Given the description of an element on the screen output the (x, y) to click on. 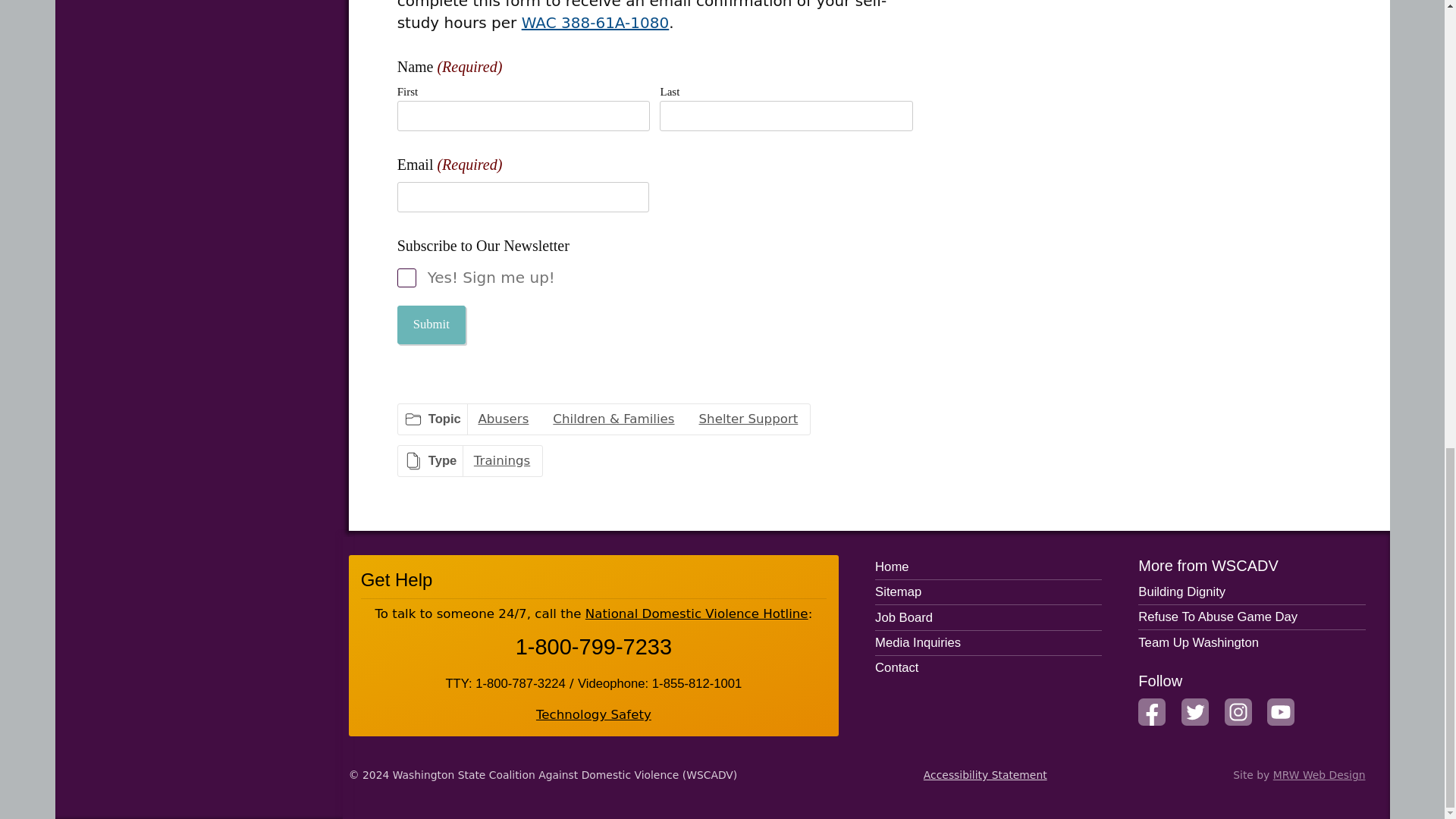
Submit (431, 324)
